Given the description of an element on the screen output the (x, y) to click on. 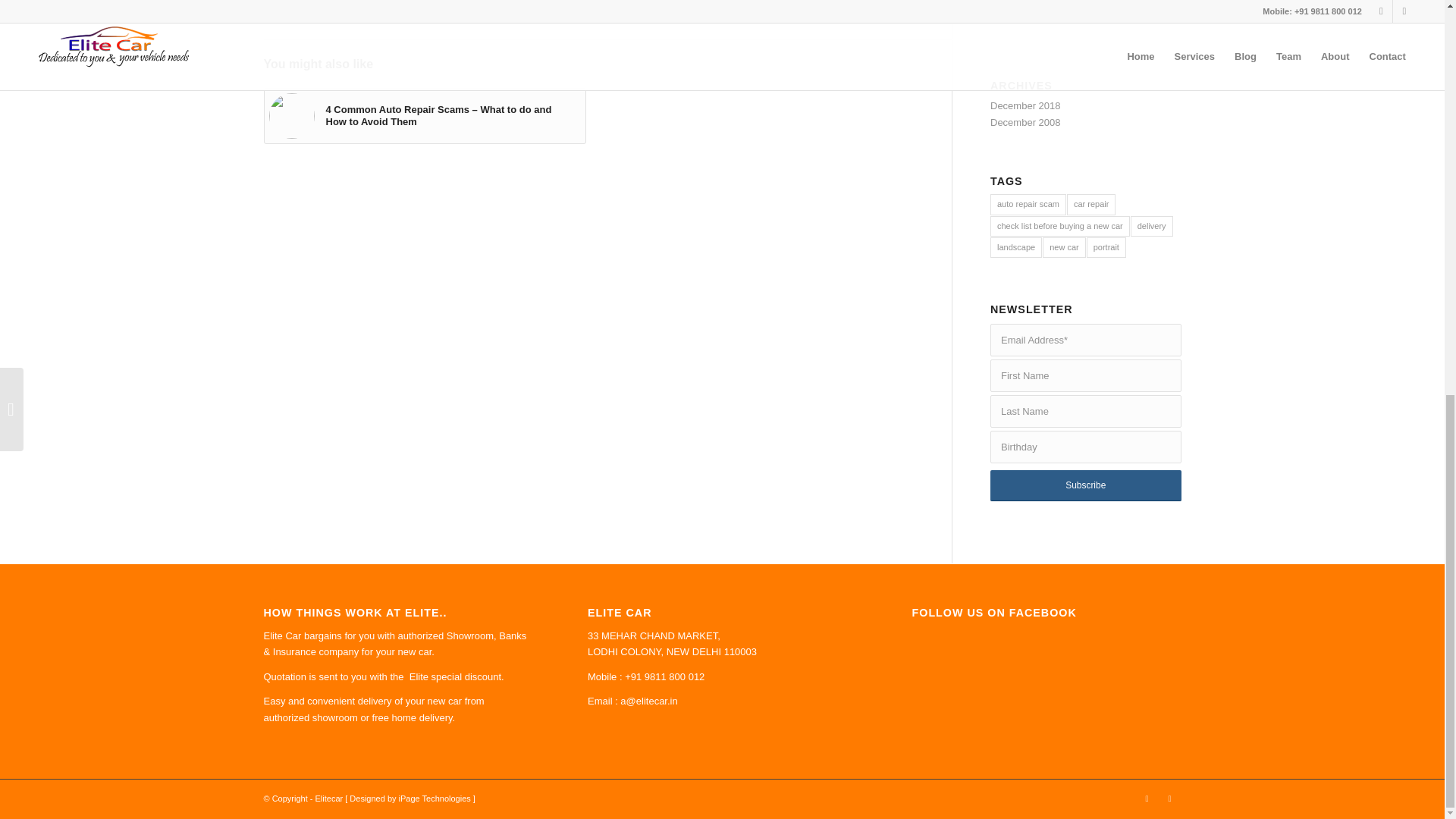
blog-carrepairhack-feature (290, 115)
car repair (1091, 204)
December 2018 (1025, 105)
Subscribe (1085, 485)
December 2008 (1025, 122)
auto repair scam (1027, 204)
